Given the description of an element on the screen output the (x, y) to click on. 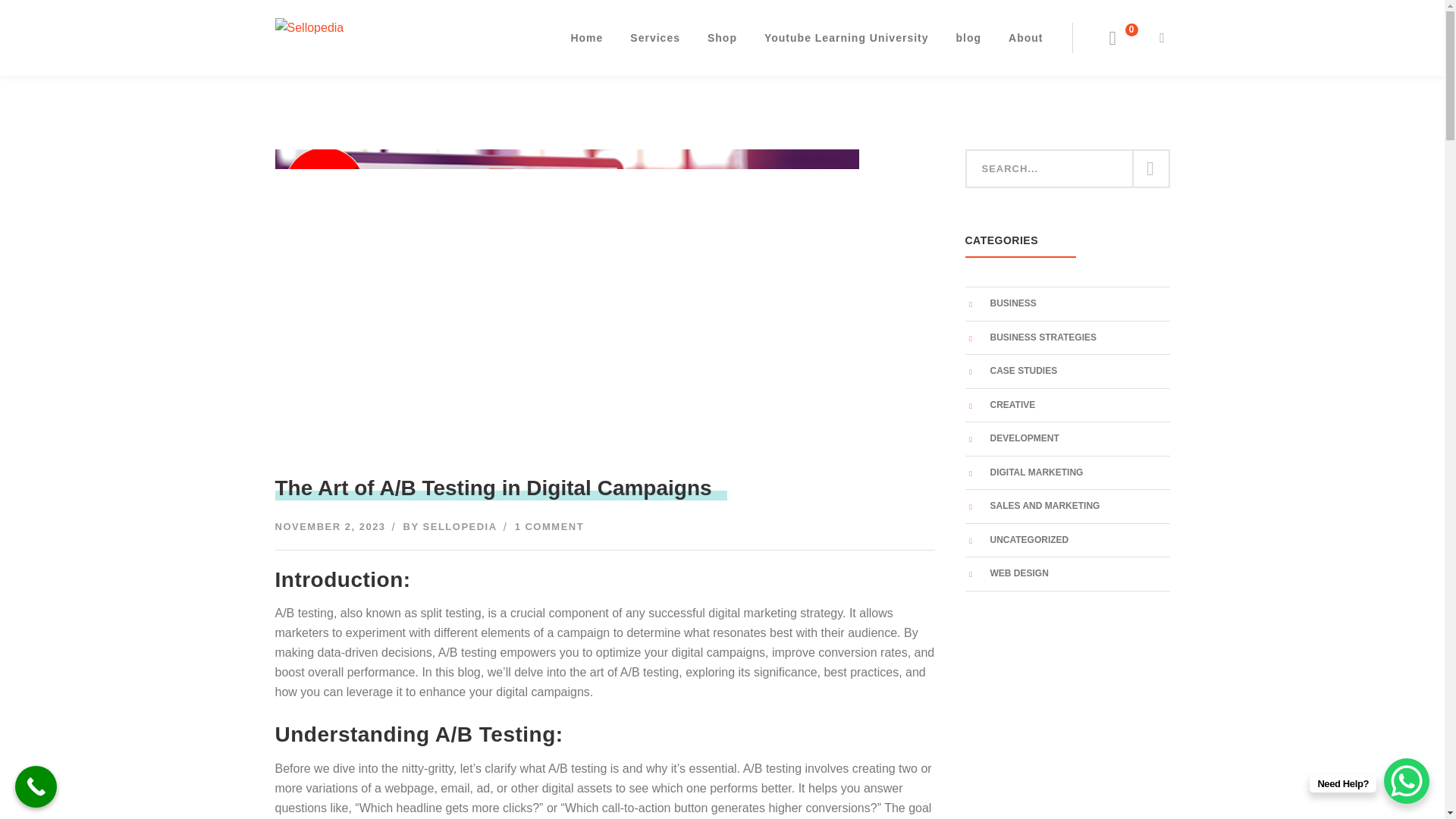
Search for: (1066, 168)
1 COMMENT (550, 526)
SELLOPEDIA (460, 526)
Sellopedia (374, 37)
0 (1123, 37)
Youtube Learning University (846, 38)
Search (1149, 168)
View all posts by SELLOPEDIA (460, 526)
